Given the description of an element on the screen output the (x, y) to click on. 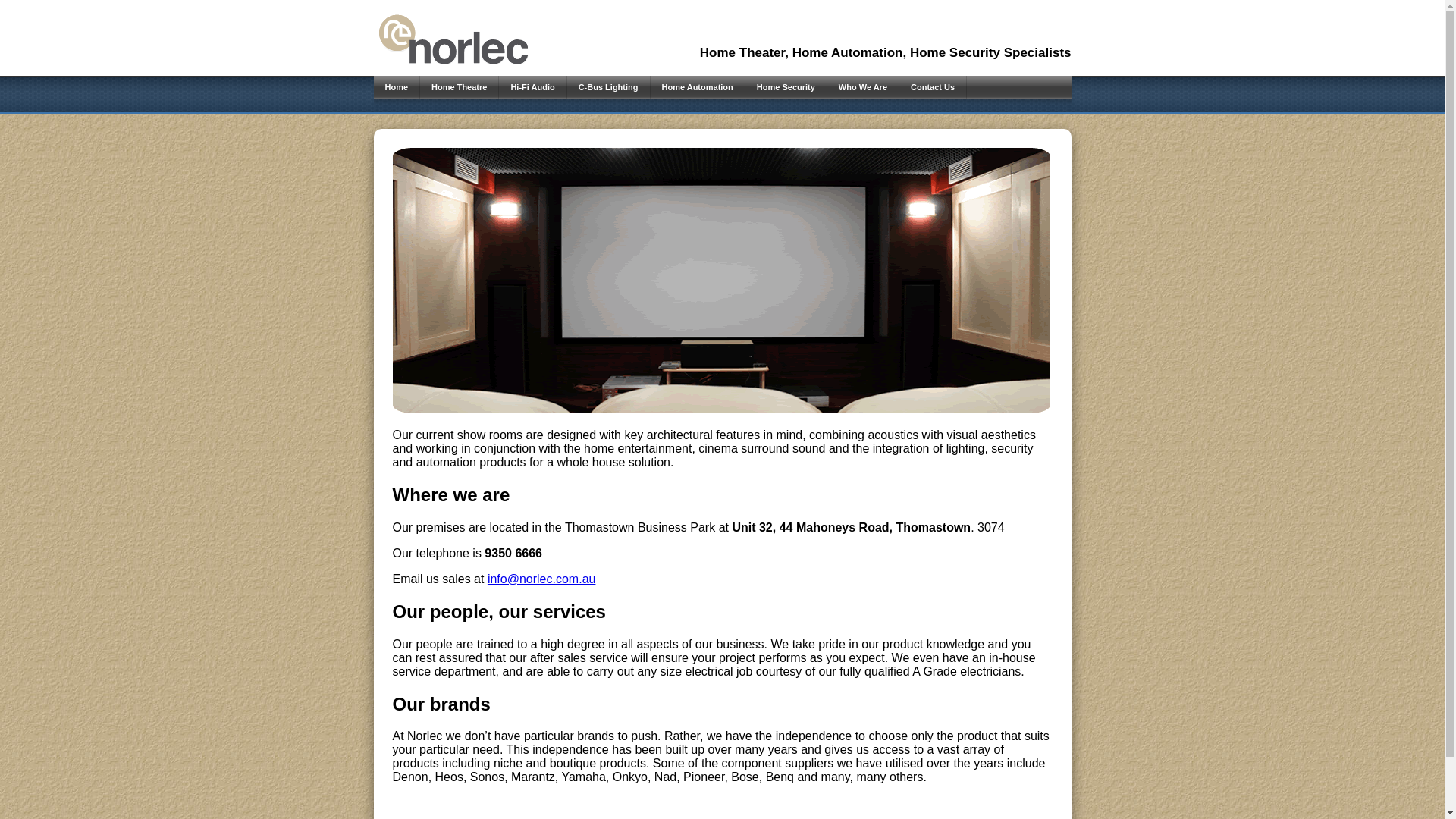
Home Automation Element type: text (697, 86)
C-Bus Lighting Element type: text (608, 86)
info@norlec.com.au Element type: text (541, 578)
Home Theatre Element type: text (459, 86)
Home Security Element type: text (785, 86)
Hi-Fi Audio Element type: text (531, 86)
Who We Are Element type: text (862, 86)
Norlec Hi-Fi Element type: hover (451, 39)
Home Element type: text (396, 86)
Contact Us Element type: text (932, 86)
